Given the description of an element on the screen output the (x, y) to click on. 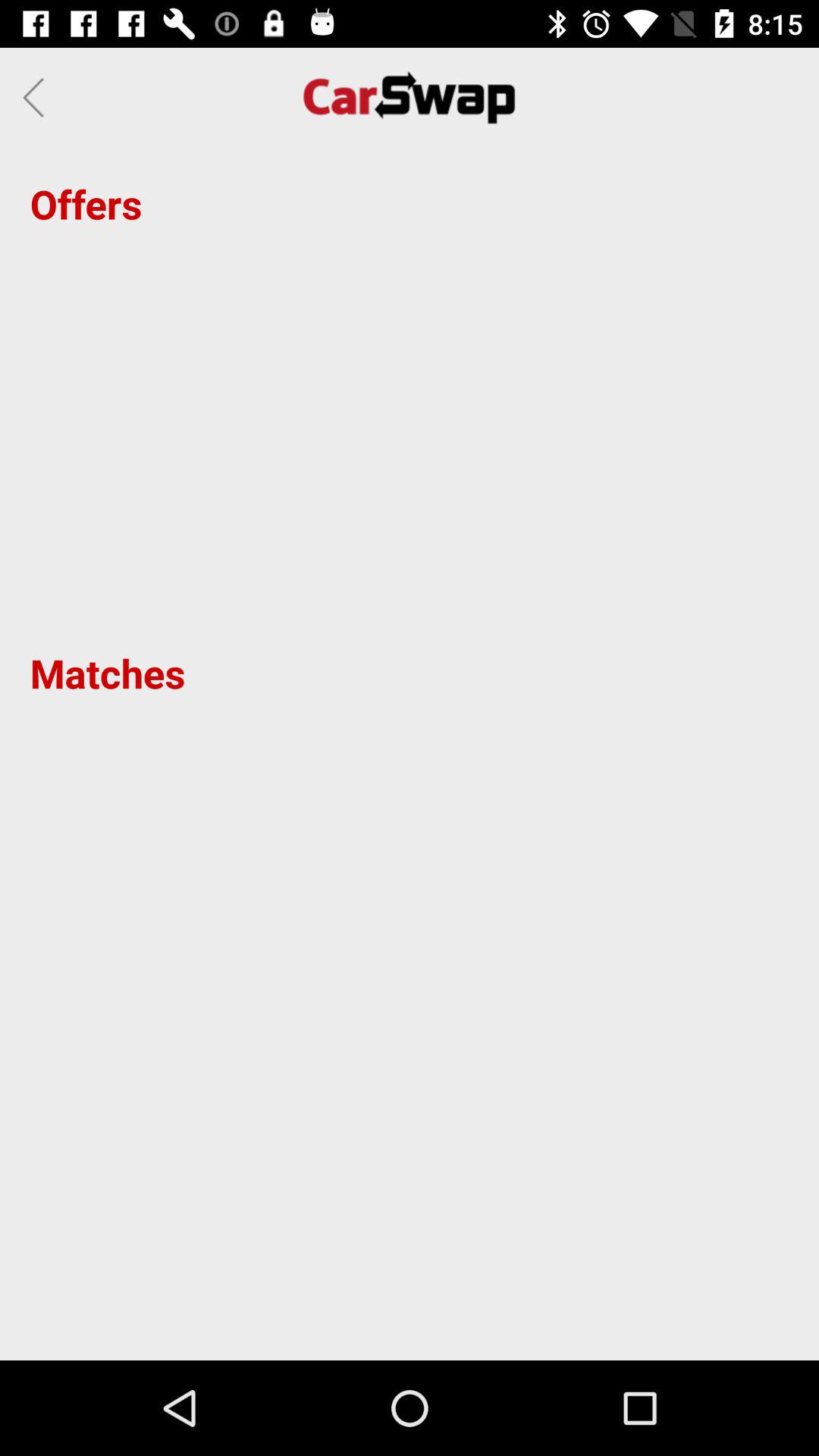
tap item at the top left corner (38, 97)
